Given the description of an element on the screen output the (x, y) to click on. 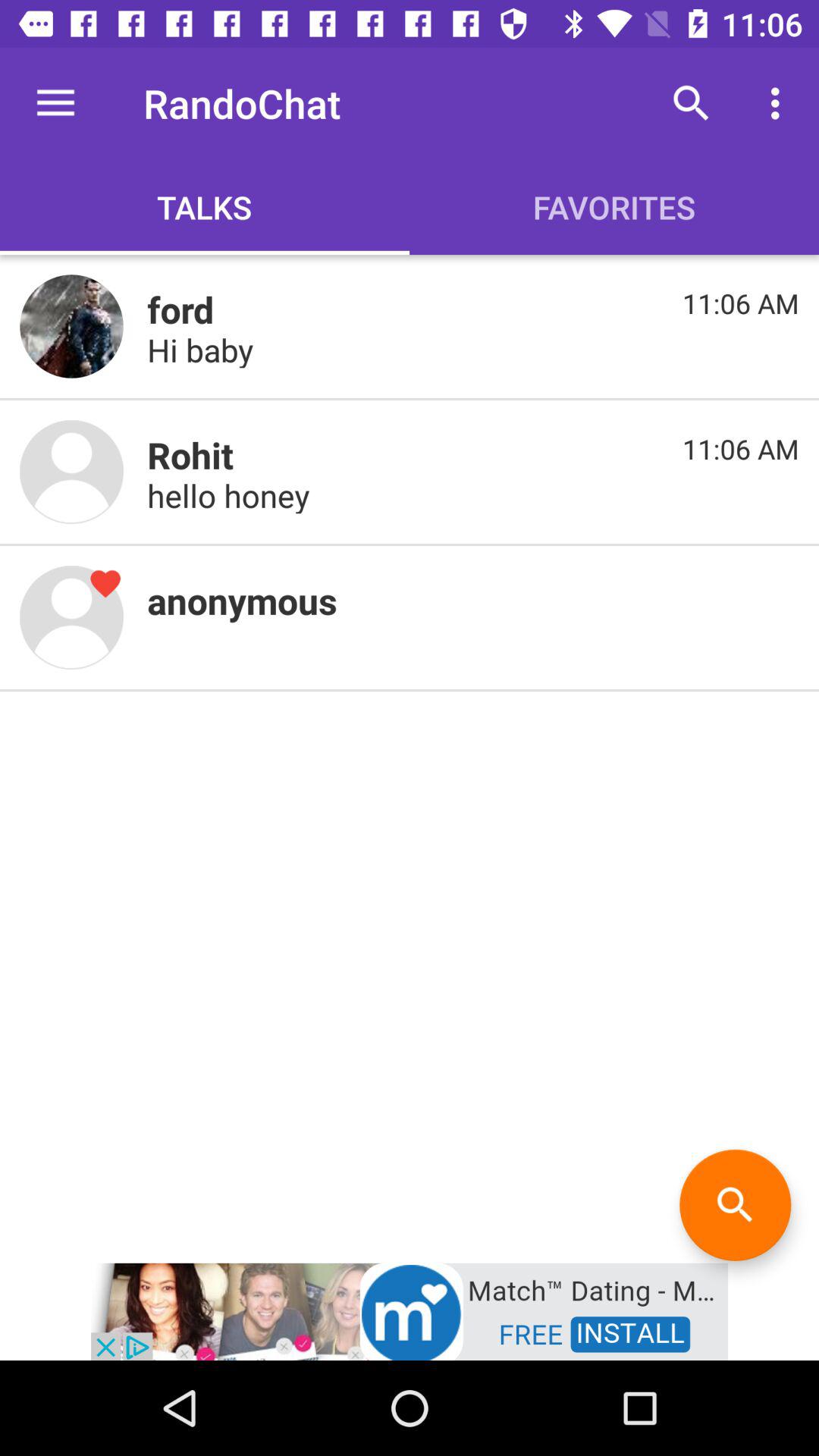
open the add (409, 1310)
